Given the description of an element on the screen output the (x, y) to click on. 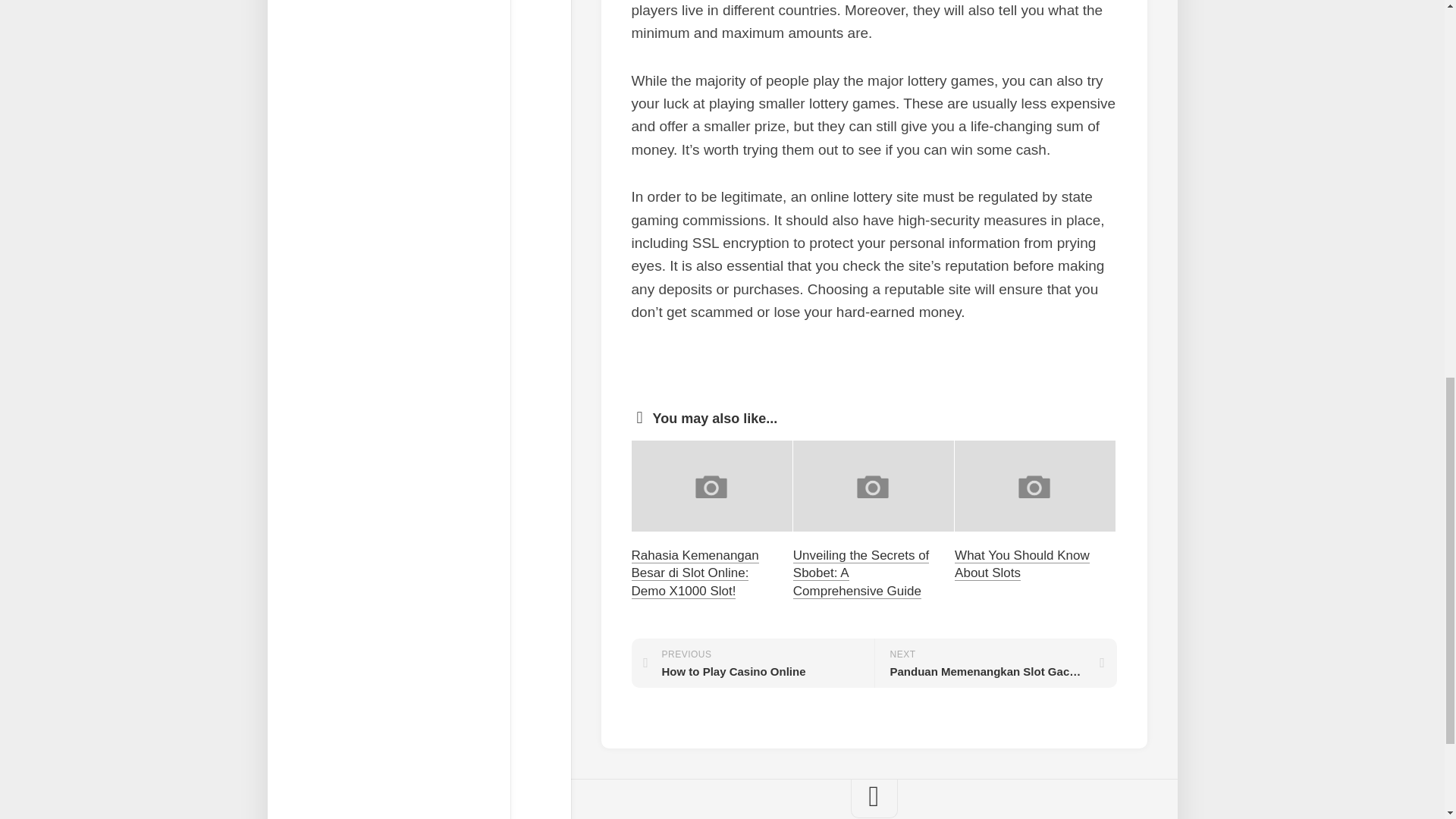
Rahasia Kemenangan Besar di Slot Online: Demo X1000 Slot! (694, 572)
Unveiling the Secrets of Sbobet: A Comprehensive Guide (861, 572)
What You Should Know About Slots (751, 662)
